Given the description of an element on the screen output the (x, y) to click on. 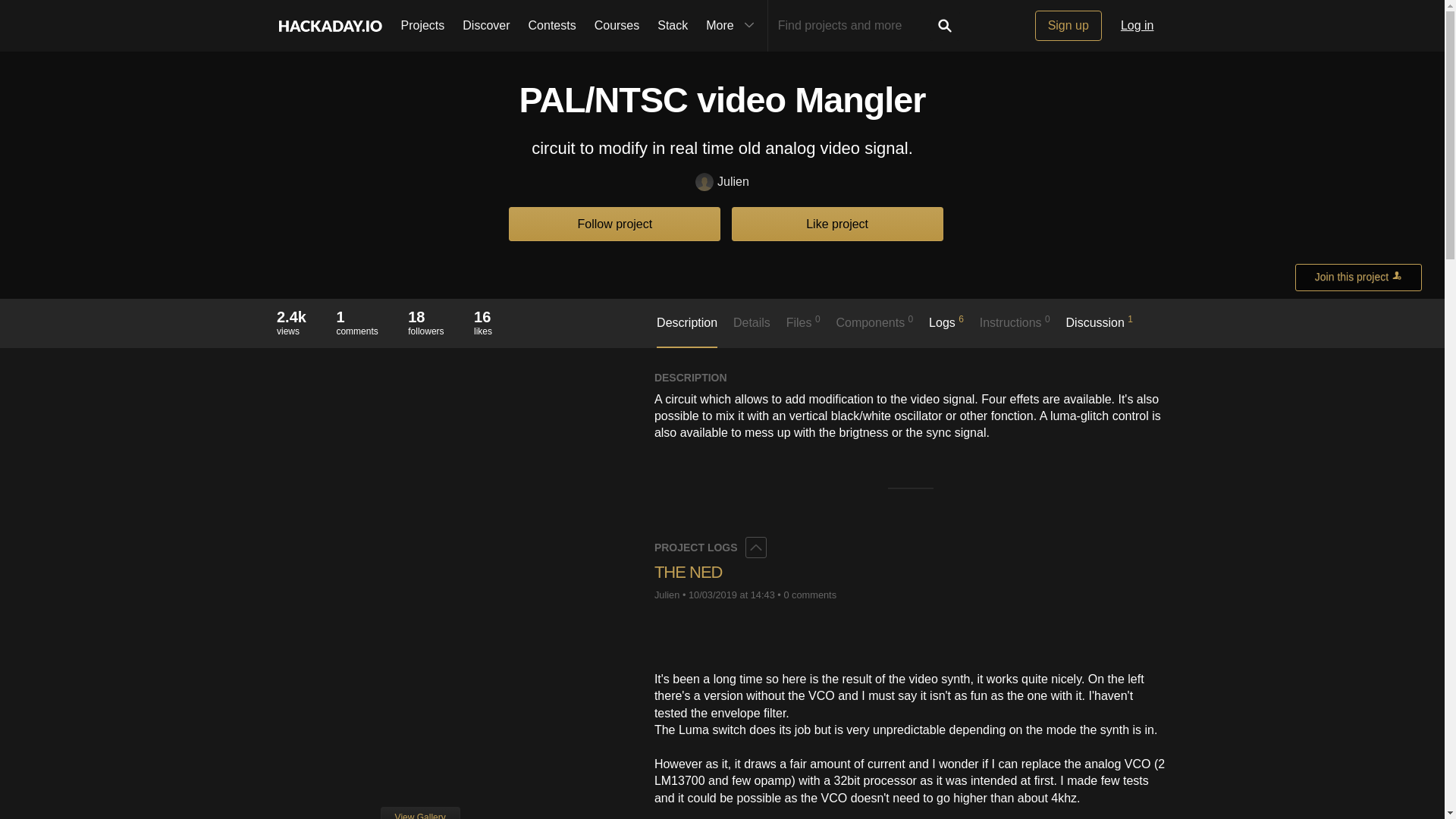
Projects (421, 25)
Join this project (1358, 277)
Logs 6 (945, 329)
Two characters minimum (853, 25)
Log in (1137, 25)
Courses (425, 322)
More (617, 25)
Stack (732, 25)
Description (672, 25)
